Given the description of an element on the screen output the (x, y) to click on. 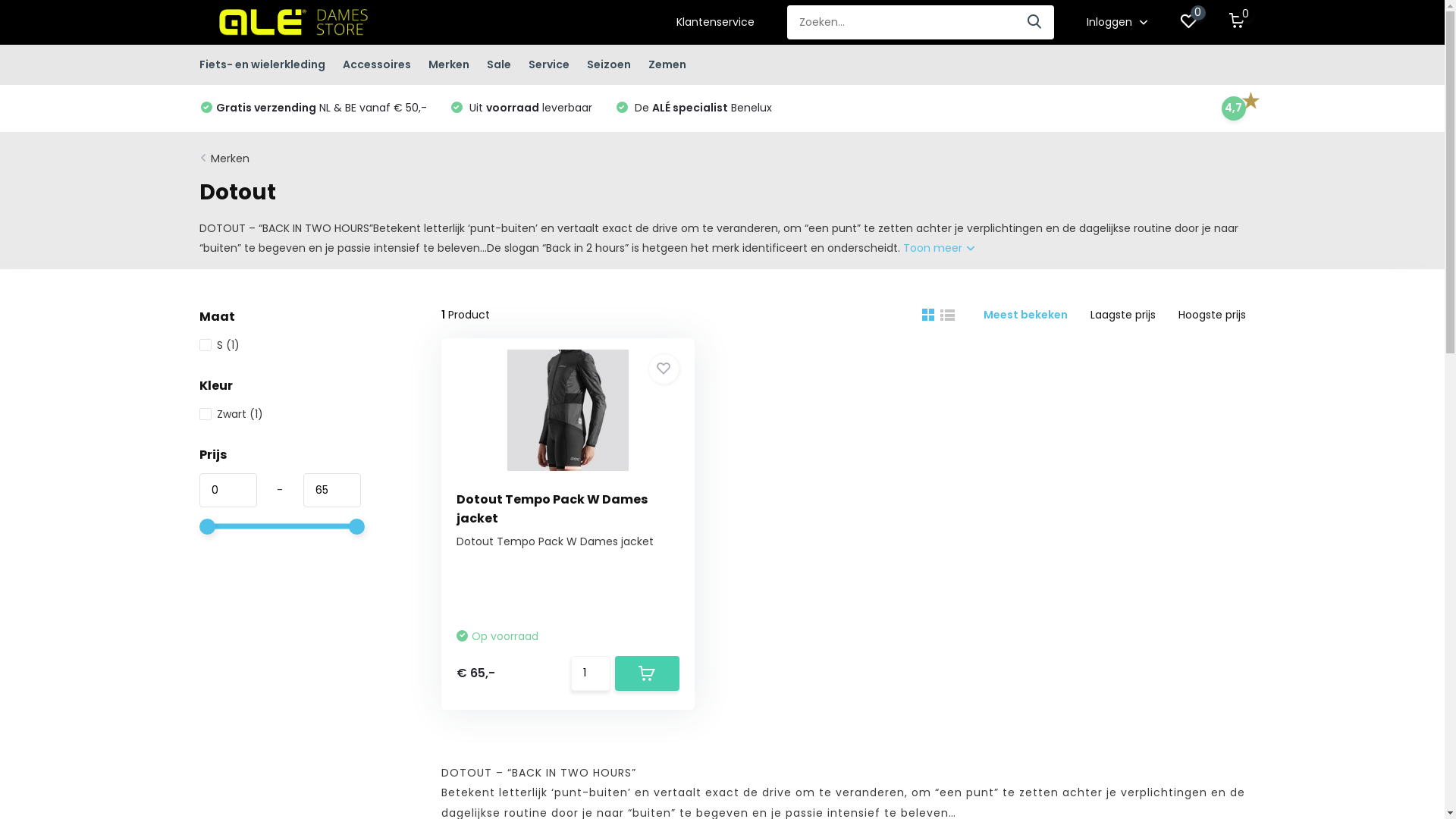
Dotout Tempo Pack W Dames jacket Element type: text (551, 508)
Seizoen Element type: text (608, 64)
Accessoires Element type: text (376, 64)
0 Element type: text (1236, 22)
Zemen Element type: text (666, 64)
Merken Element type: text (447, 64)
Sale Element type: text (498, 64)
Service Element type: text (547, 64)
Merken Element type: text (229, 158)
Toon meer Element type: text (937, 247)
Fiets- en wielerkleding Element type: text (261, 64)
Zoeken Element type: hover (1035, 22)
0 Element type: text (1187, 22)
Inloggen Element type: text (1115, 22)
4,7 Element type: text (1232, 108)
Klantenservice Element type: text (715, 22)
